Given the description of an element on the screen output the (x, y) to click on. 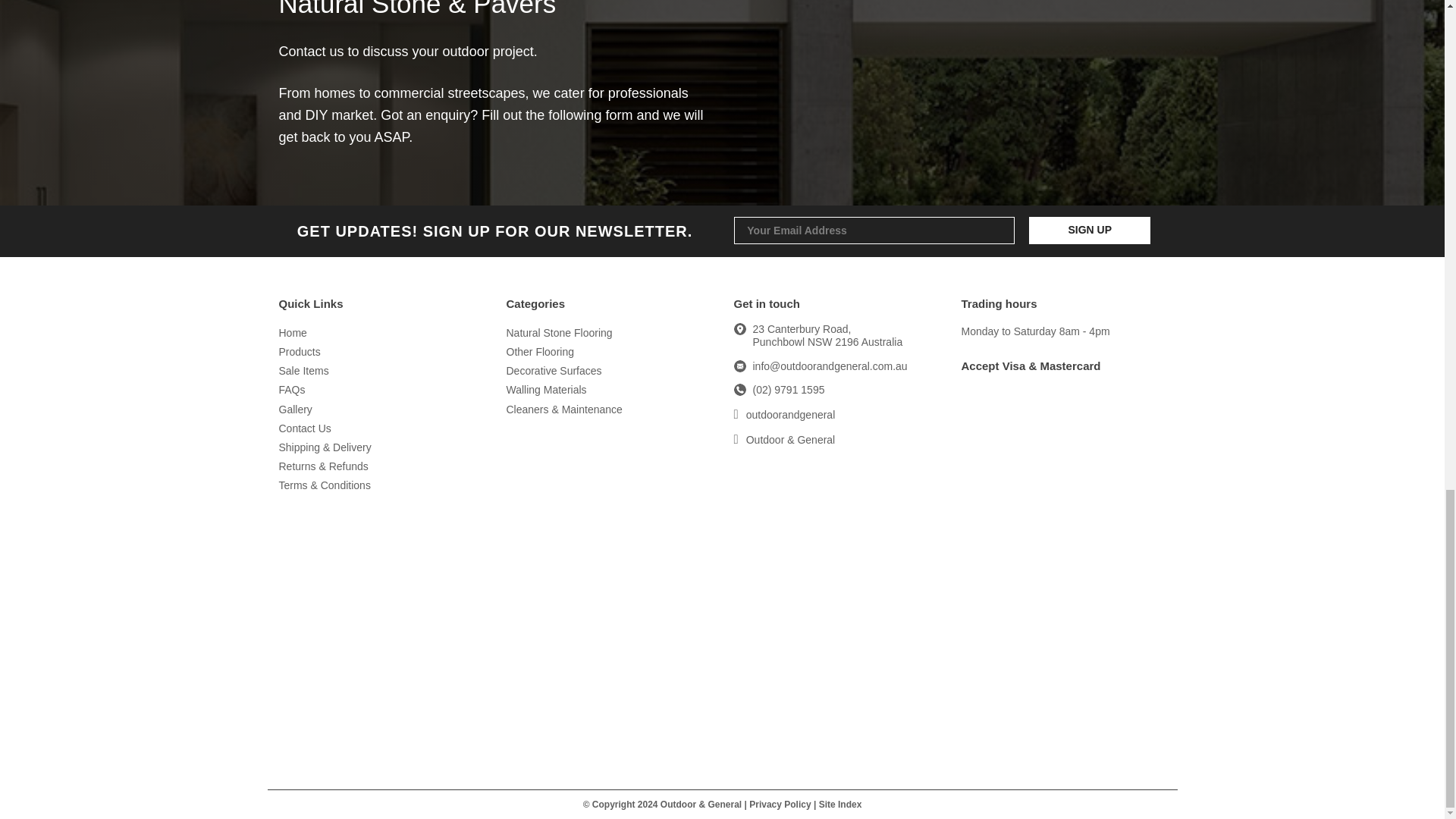
Master Card (1036, 692)
pave-link (836, 514)
Master Card (1063, 445)
Visa (1063, 559)
Sign up (1089, 230)
